Given the description of an element on the screen output the (x, y) to click on. 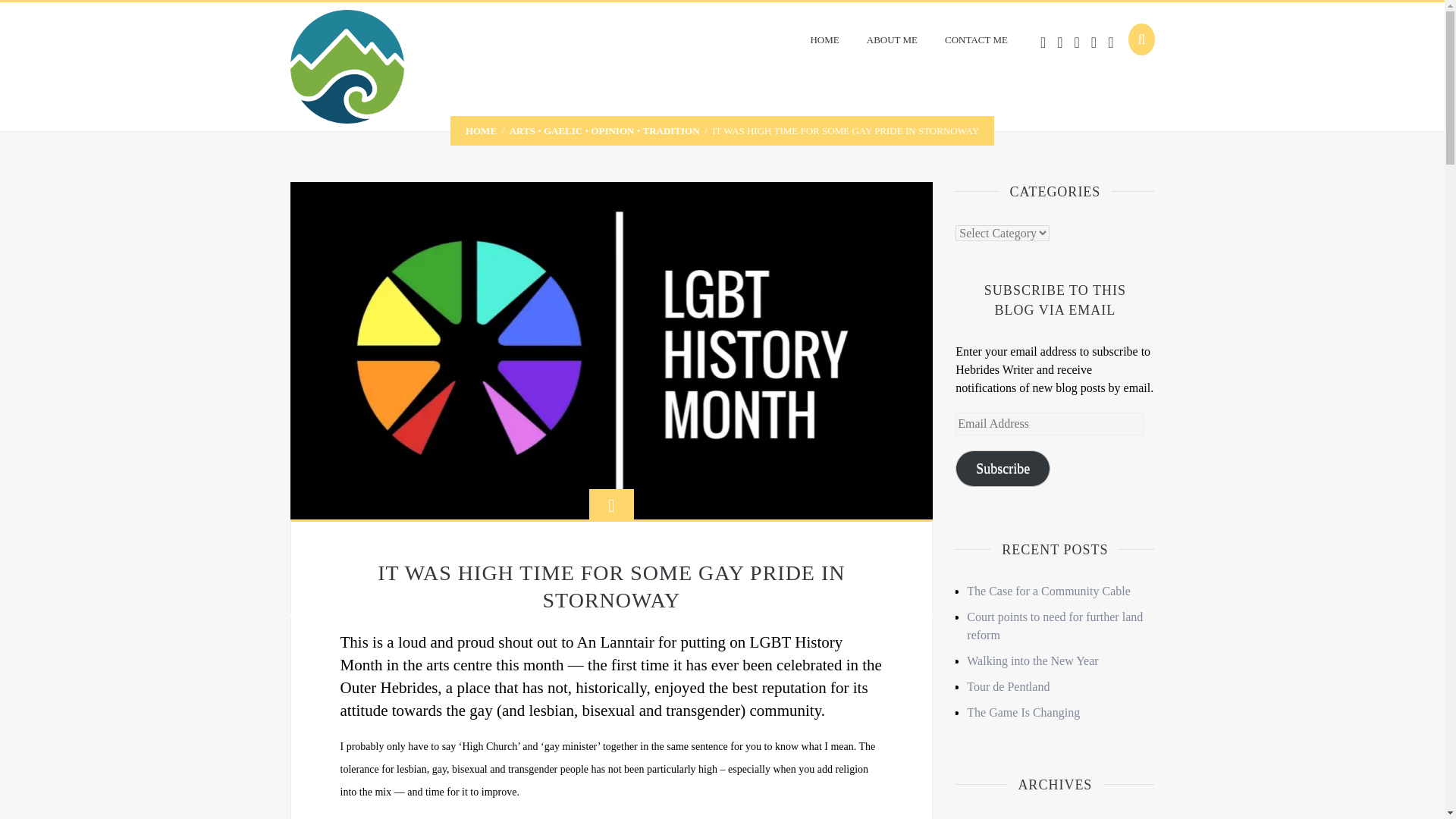
ABOUT ME (892, 40)
OPINION (612, 129)
It was high time for some gay pride in Stornoway (611, 349)
TRADITION (670, 129)
ARTS (522, 129)
HOME (823, 40)
GAELIC (562, 129)
HOME (480, 129)
CONTACT ME (976, 40)
